Given the description of an element on the screen output the (x, y) to click on. 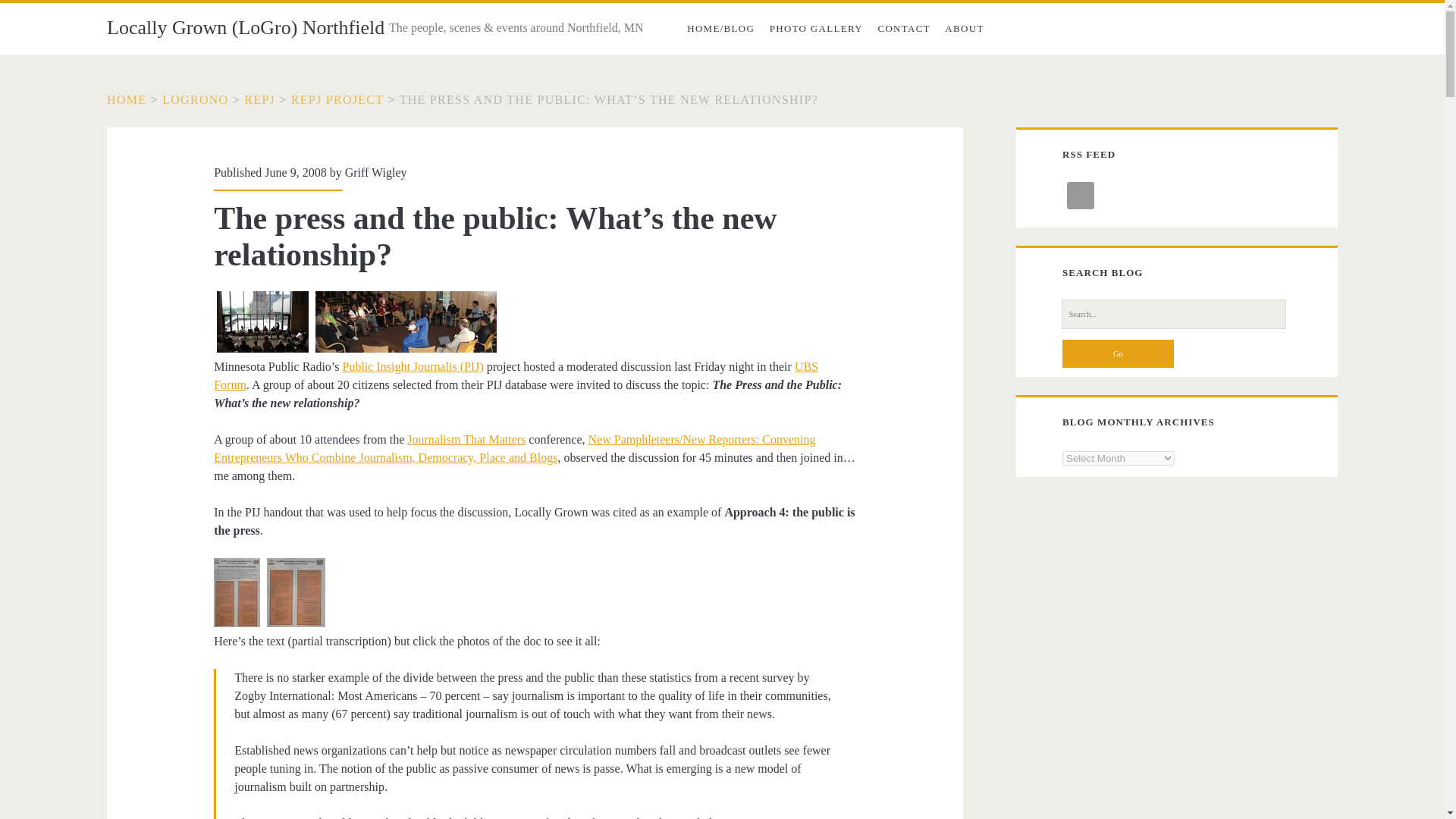
Posts by Griff Wigley (376, 172)
PHOTO GALLERY (815, 28)
Search for: (1173, 313)
Journalism That Matters (466, 439)
Go (1117, 352)
Home (126, 99)
REPJ (259, 99)
REPJ PROJECT (337, 99)
CONTACT (903, 28)
Griff Wigley (376, 172)
